Given the description of an element on the screen output the (x, y) to click on. 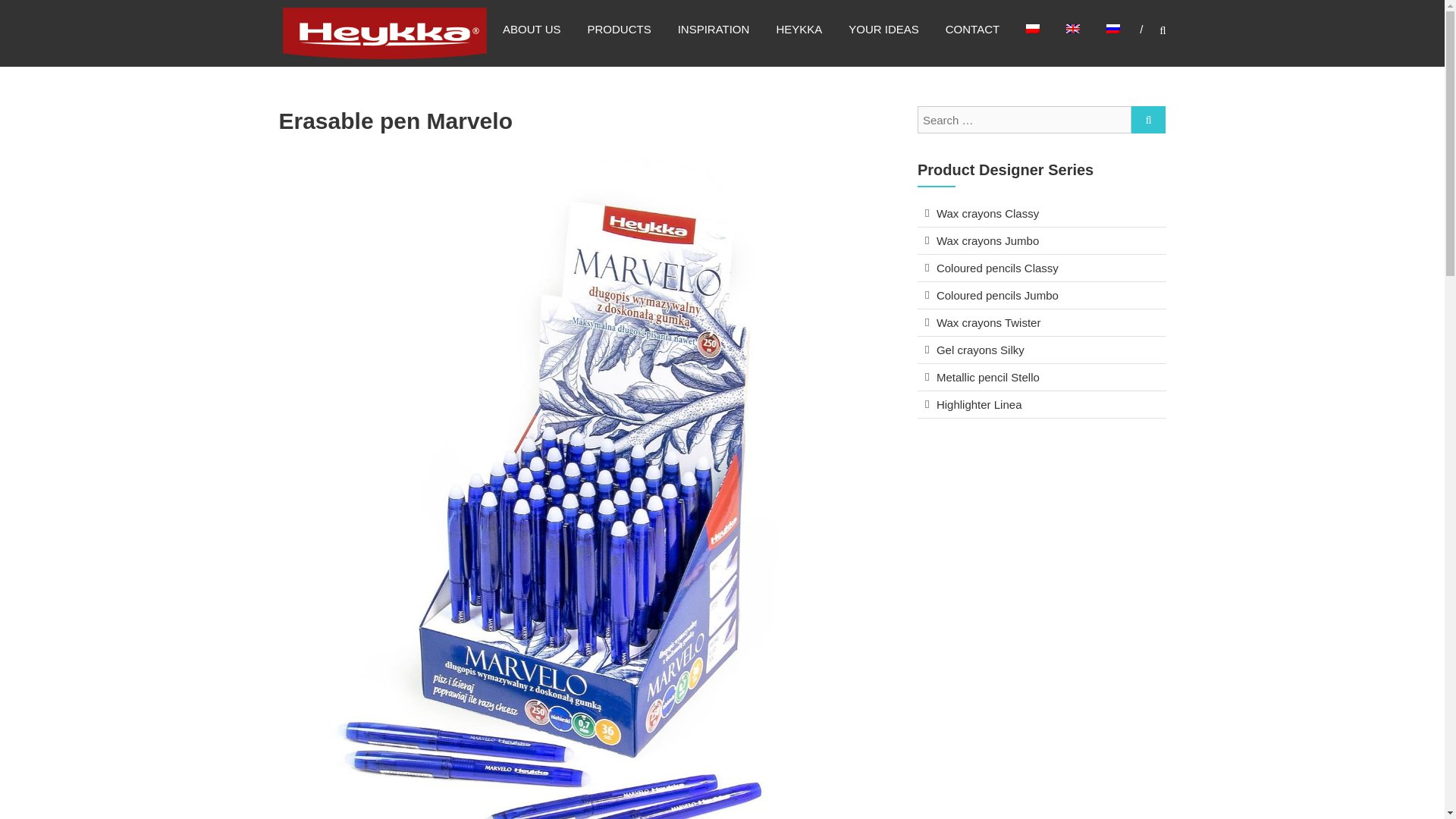
CONTACT (971, 29)
Wax crayons Twister (988, 322)
Search (1232, 409)
Wax crayons Jumbo (987, 240)
Metallic pencil Stello (987, 377)
ABOUT US (531, 29)
PRODUCTS (618, 29)
Highlighter Linea (979, 404)
Search (1148, 119)
INSPIRATION (713, 29)
